Given the description of an element on the screen output the (x, y) to click on. 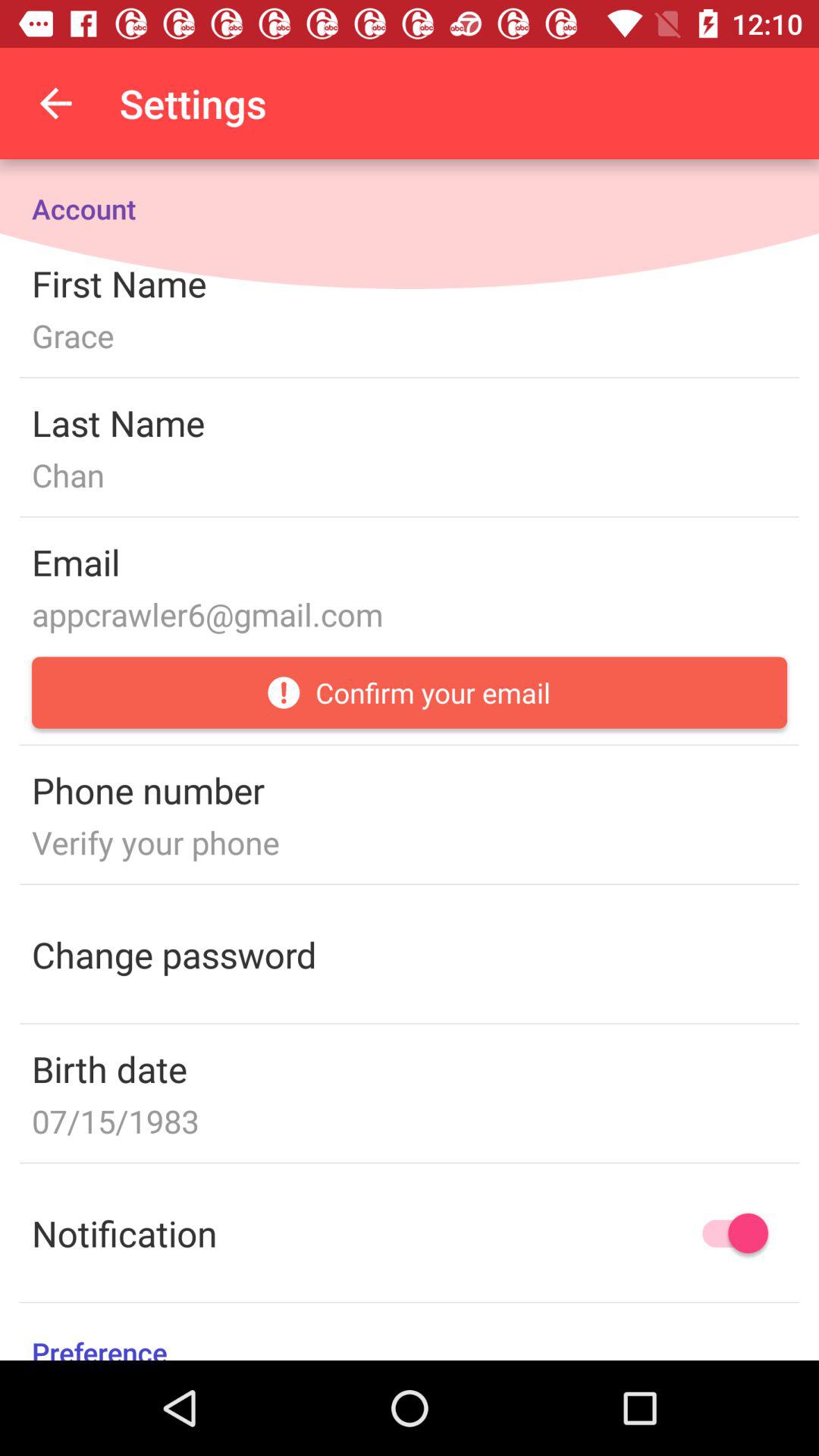
choose the icon next to notification (727, 1233)
